Given the description of an element on the screen output the (x, y) to click on. 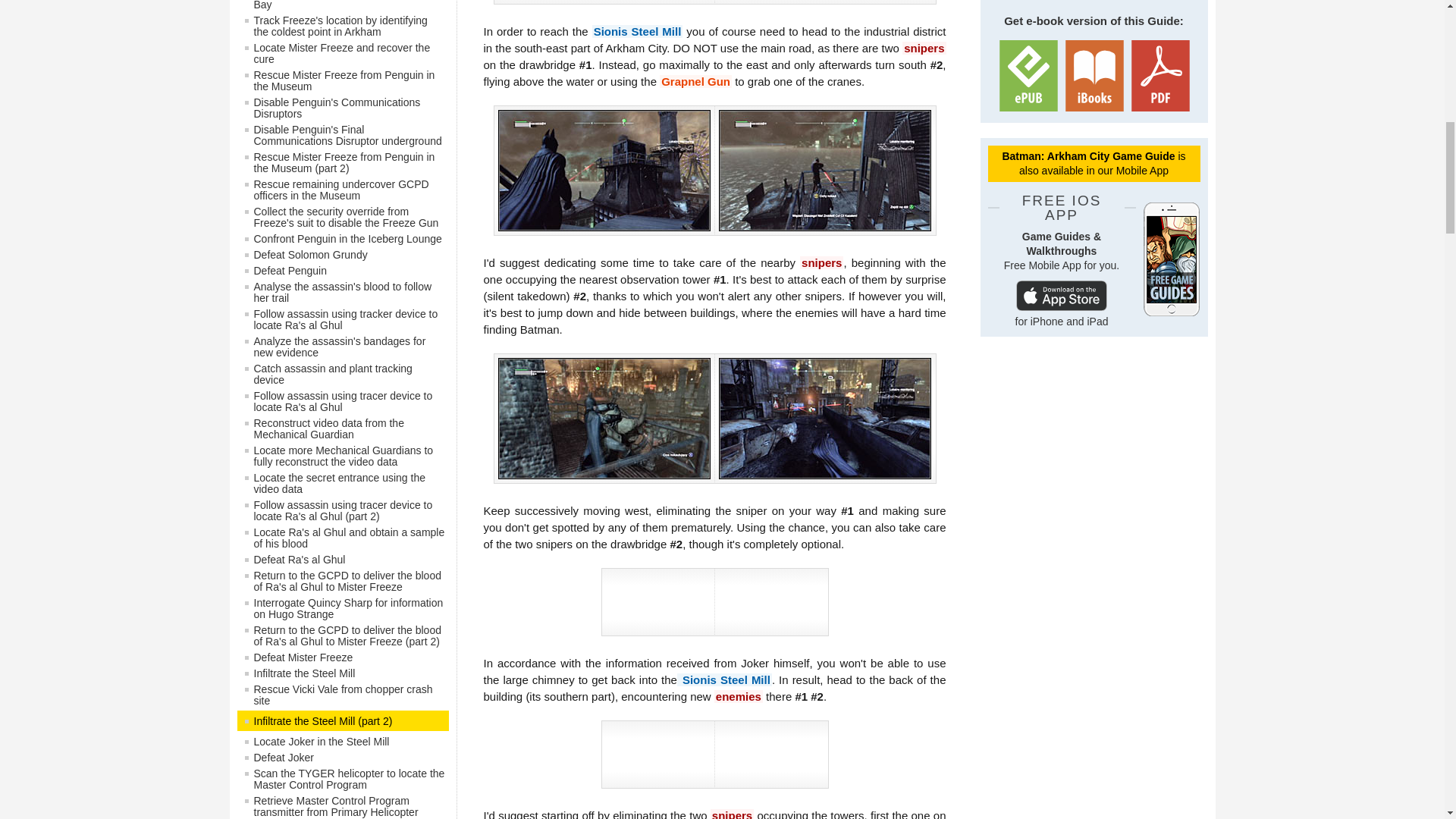
3rd party ad content (1093, 446)
